Given the description of an element on the screen output the (x, y) to click on. 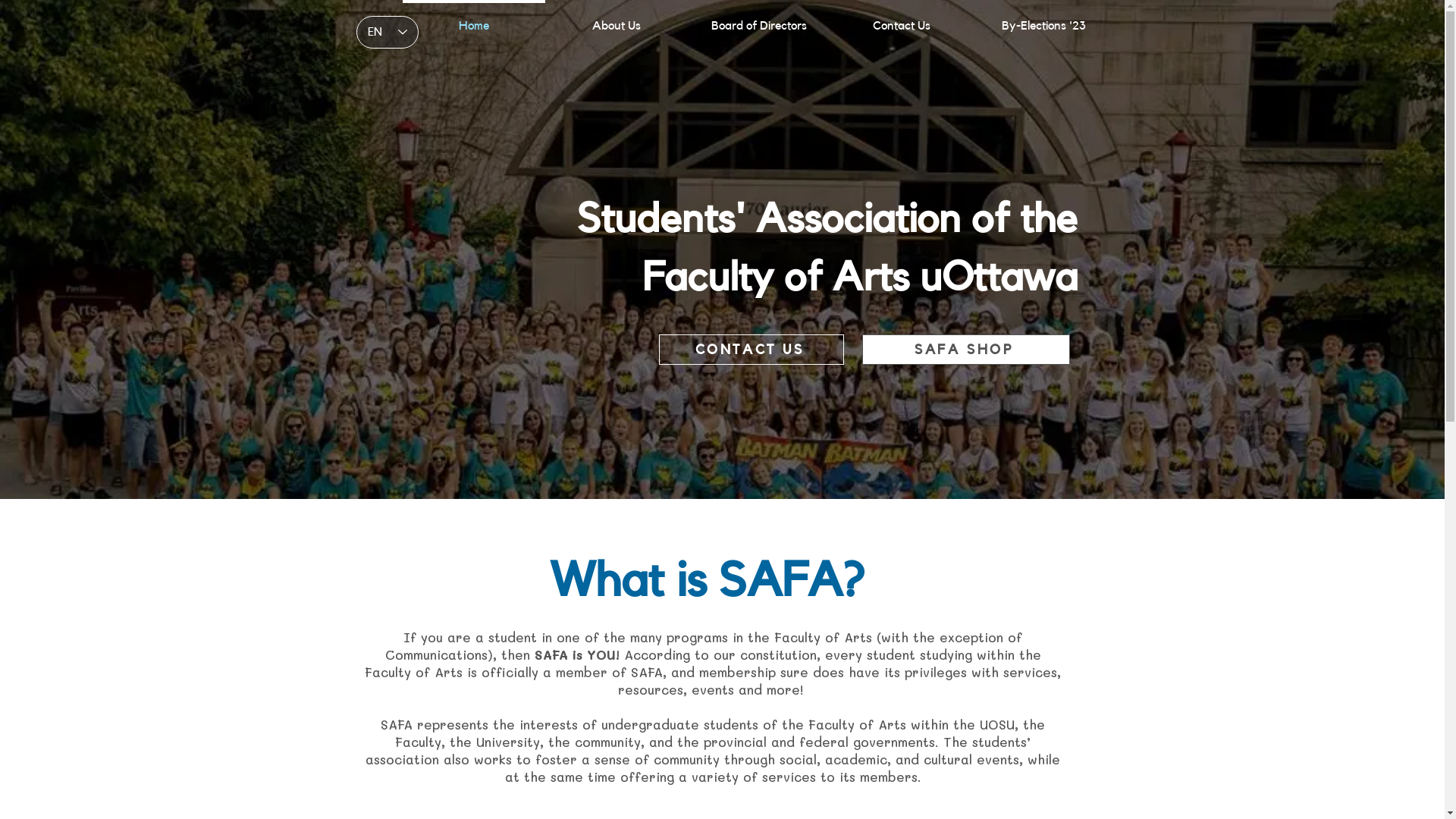
By-Elections '23 Element type: text (1043, 18)
CONTACT US Element type: text (750, 349)
Home Element type: text (472, 18)
Contact Us Element type: text (900, 18)
Board of Directors Element type: text (758, 18)
SAFA SHOP Element type: text (965, 349)
About Us Element type: text (615, 18)
